Given the description of an element on the screen output the (x, y) to click on. 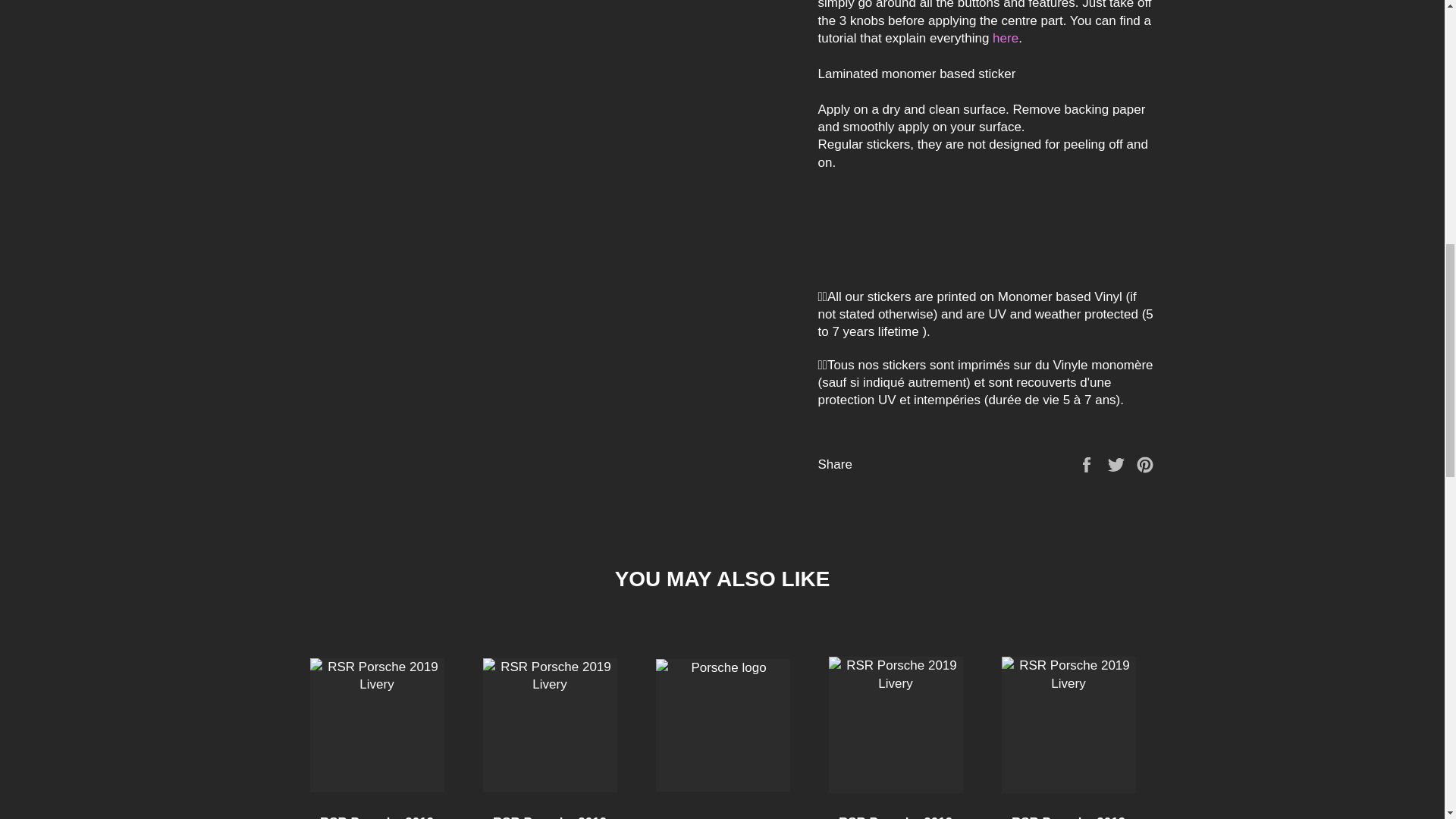
Pin on Pinterest (1144, 464)
Share on Facebook (1088, 464)
Tweet on Twitter (1117, 464)
